Given the description of an element on the screen output the (x, y) to click on. 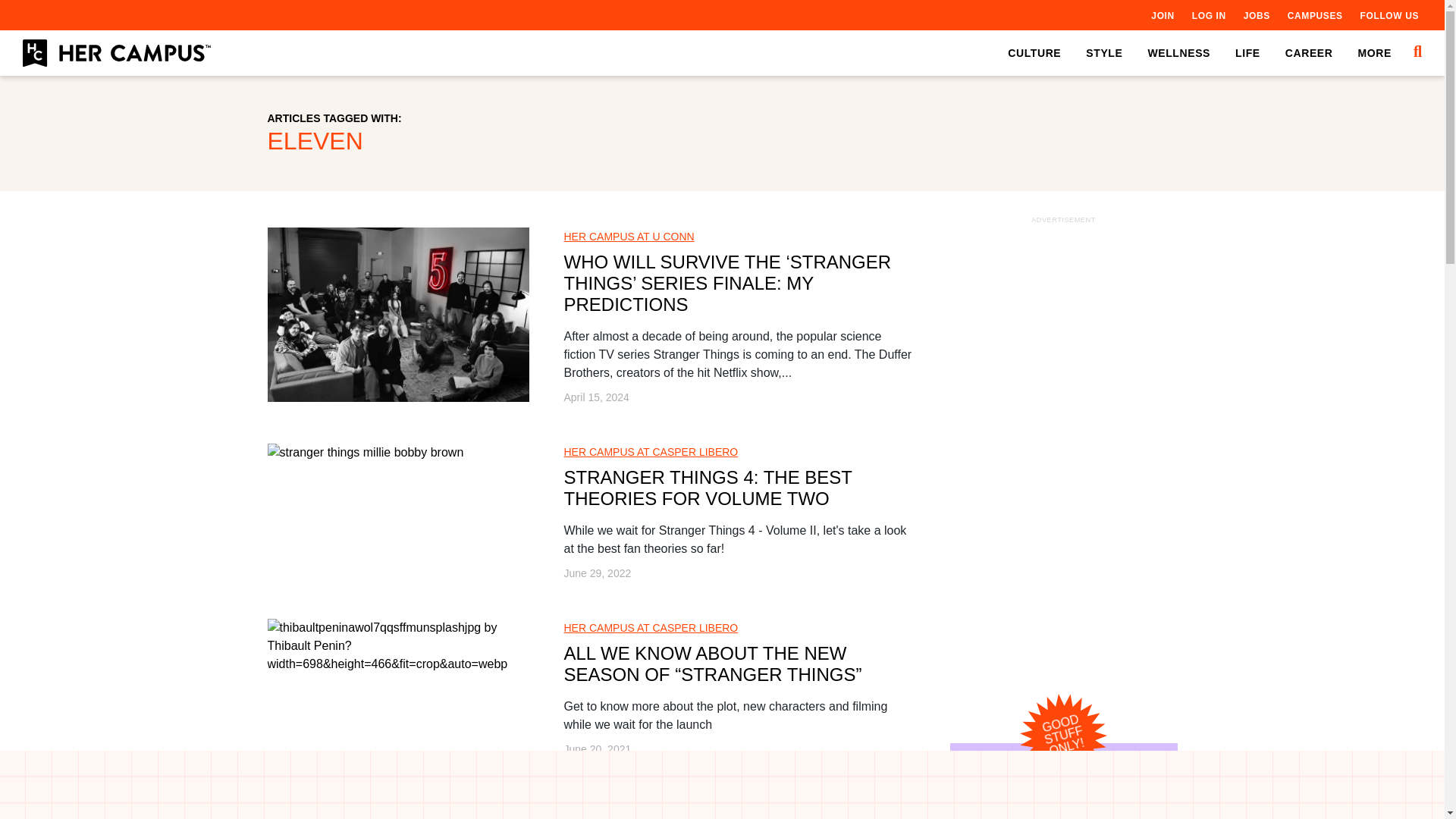
CAMPUSES (1314, 15)
LOG IN (1208, 15)
Stranger Things 4: The Best Theories For Volume Two 2 (364, 452)
JOBS (1256, 15)
JOIN (1162, 15)
All We Know About The New Season Of "Stranger Things" 3 (397, 646)
Halloween Costumes Based on Stranger Things 4 (397, 806)
